Given the description of an element on the screen output the (x, y) to click on. 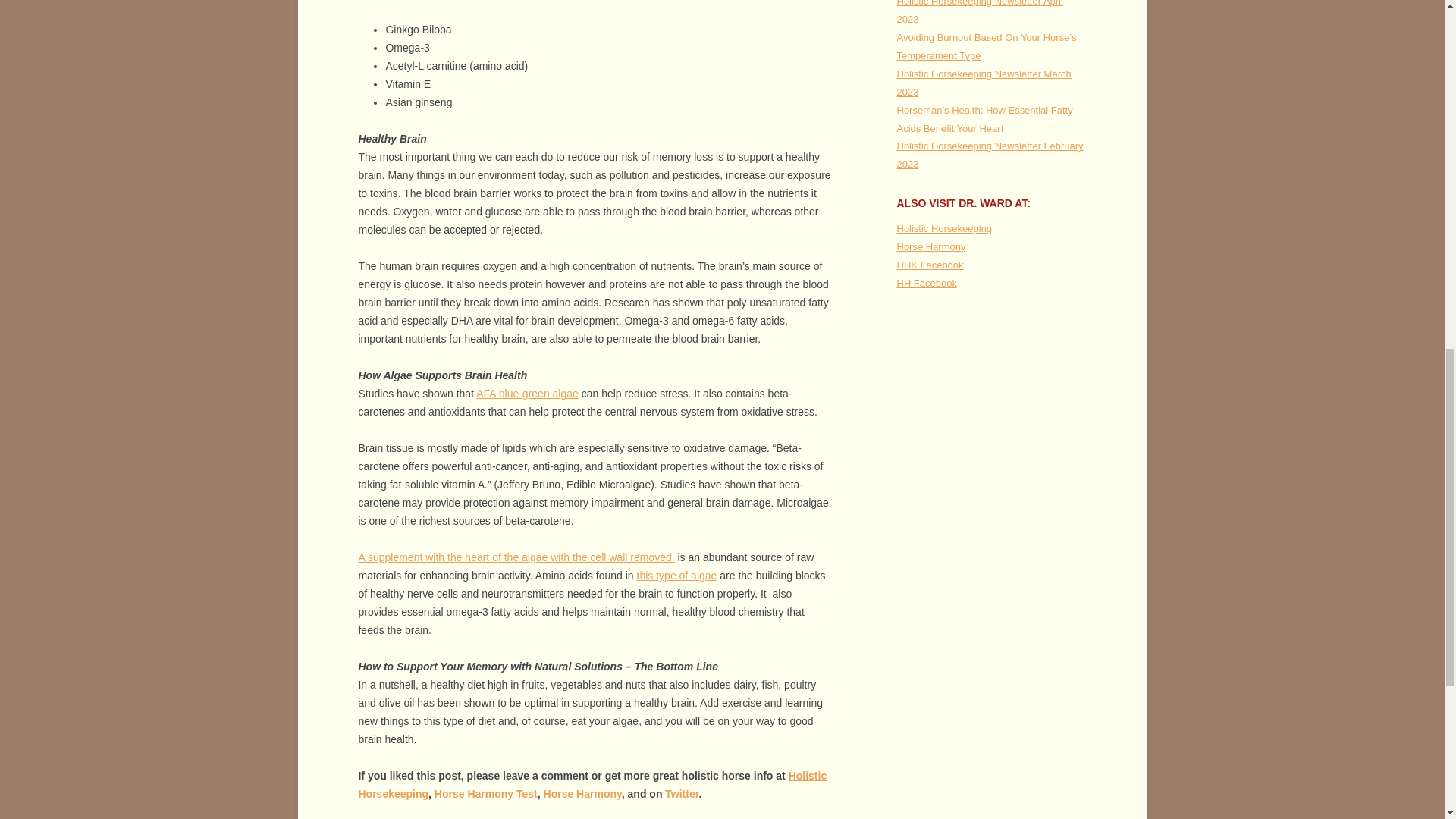
AFA blue-green algae (527, 393)
Holistic Horsekeeping (592, 784)
Horse Harmony (582, 793)
this type of algae (677, 575)
Twitter (681, 793)
Horse Harmony Test (485, 793)
